Given the description of an element on the screen output the (x, y) to click on. 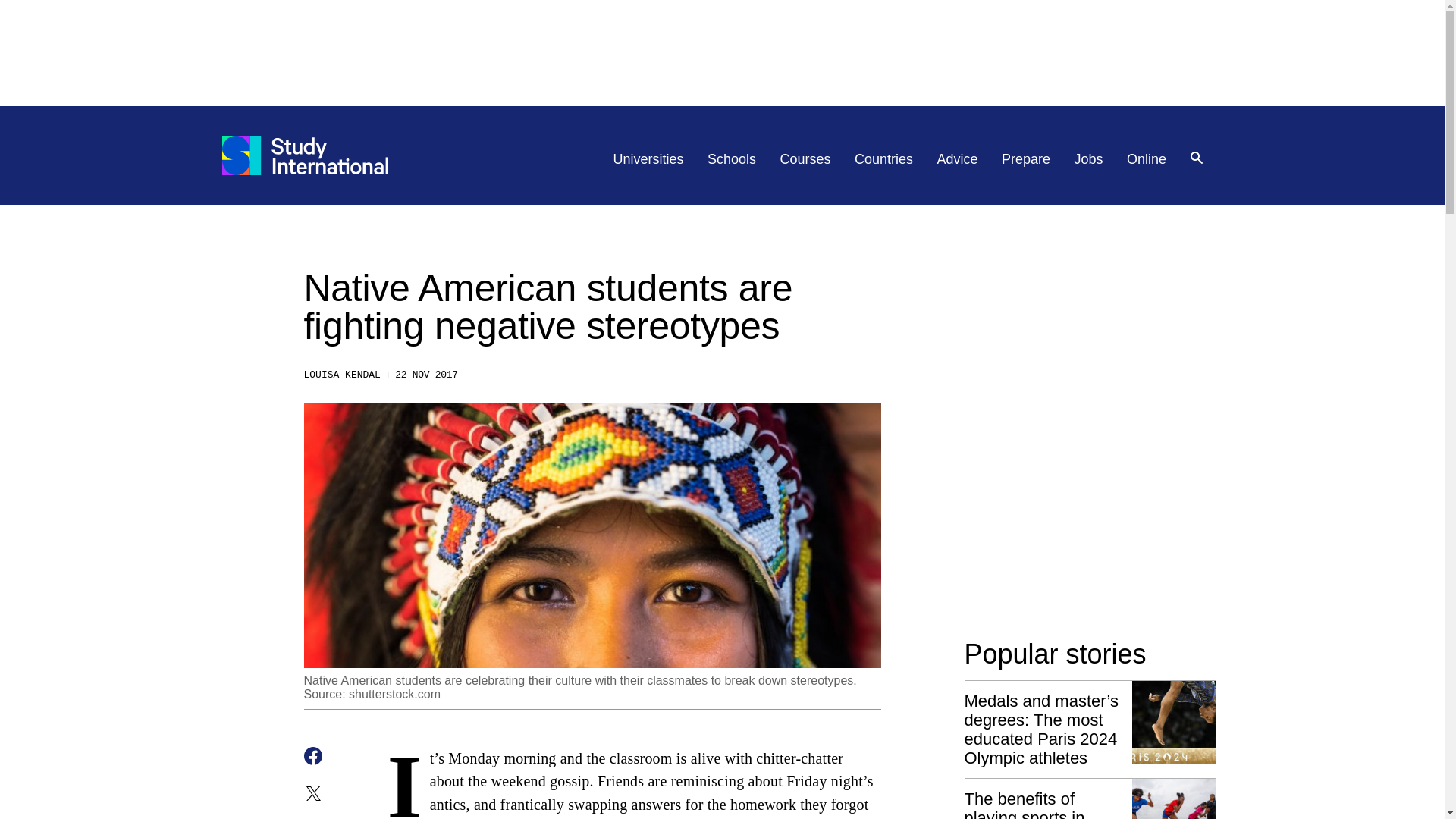
Jobs (1088, 159)
Countries (883, 159)
Online (1146, 159)
Courses (805, 159)
Universities (648, 159)
Schools (731, 159)
Prepare (1025, 159)
Advice (957, 159)
LOUISA KENDAL (341, 374)
